Given the description of an element on the screen output the (x, y) to click on. 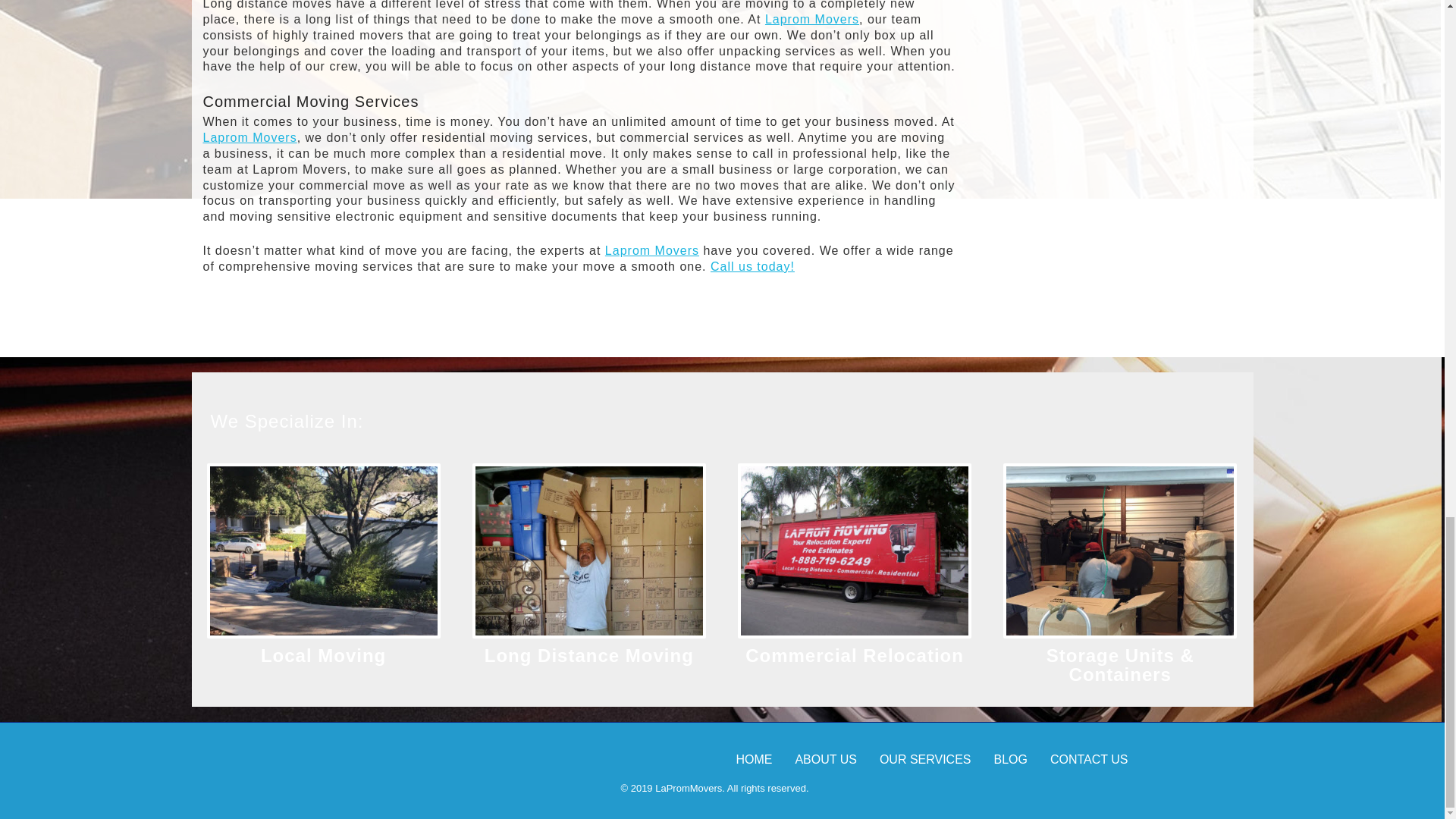
Laprom Movers (812, 19)
Call us today! (752, 266)
Laprom Movers (250, 137)
Local Moving (322, 655)
Laprom Movers (651, 250)
